Given the description of an element on the screen output the (x, y) to click on. 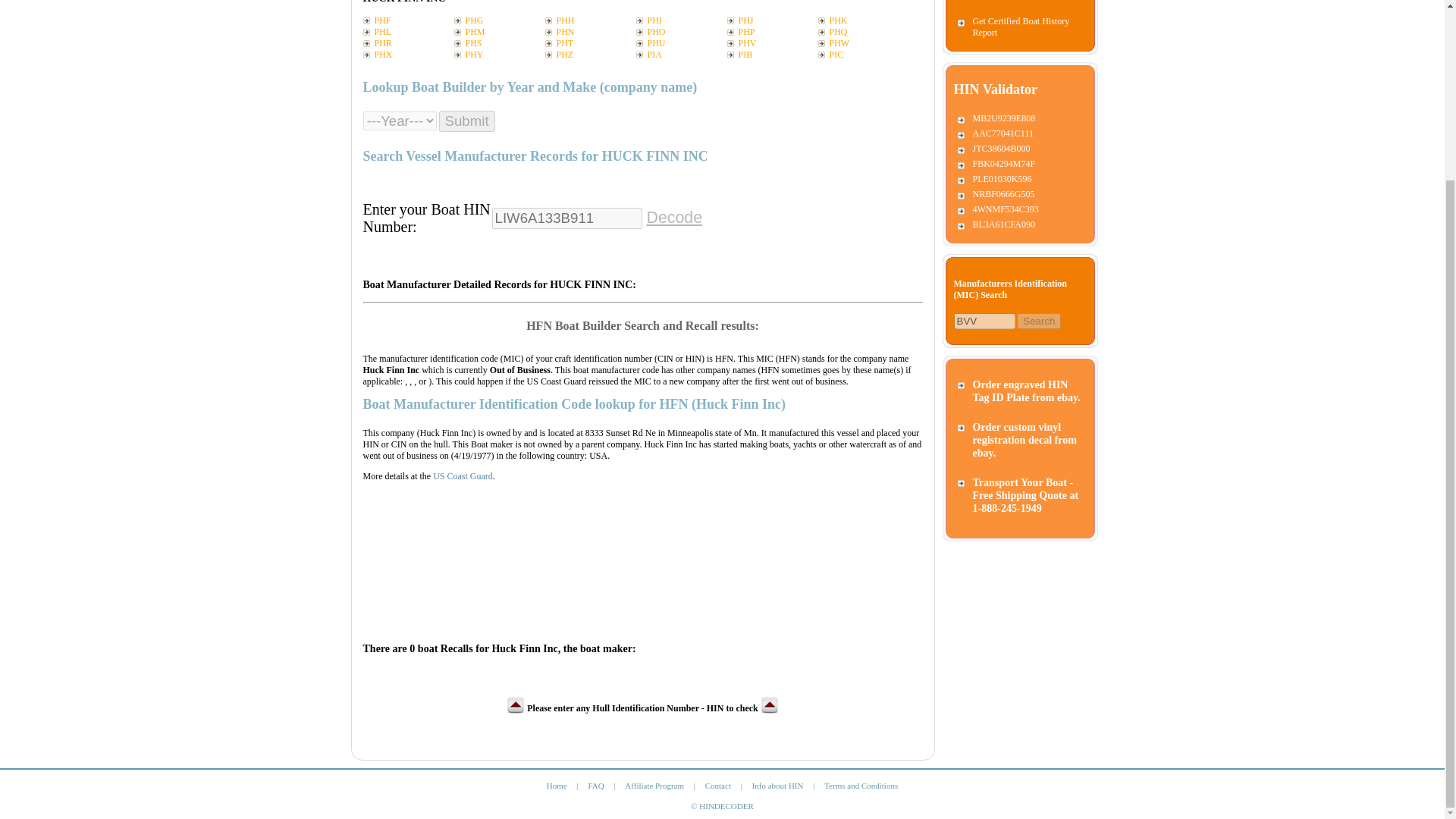
PHI HIN decoder (680, 20)
PHF (407, 20)
PHH (589, 20)
PHR (407, 43)
US Coast Guard (462, 475)
PHL (407, 31)
Search (1038, 320)
PHK HIN decoder (862, 20)
PHH HIN decoder (589, 20)
PHT (589, 43)
PIC (862, 54)
PHY (498, 54)
PHG HIN decoder (498, 20)
PHU (680, 43)
PHZ (589, 54)
